Given the description of an element on the screen output the (x, y) to click on. 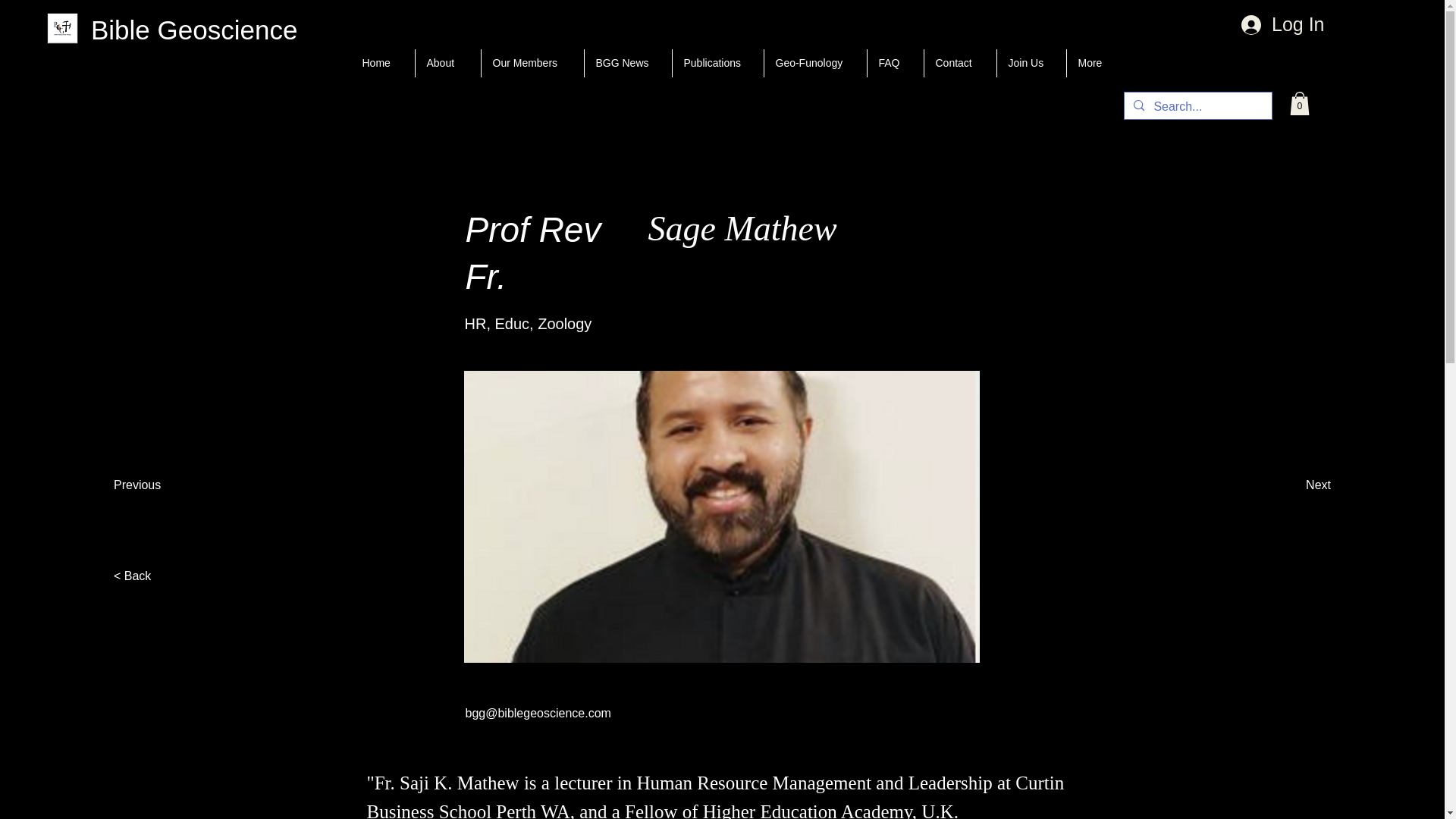
Previous (139, 485)
BGG News (627, 62)
Contact (959, 62)
Our Members (531, 62)
FAQ (895, 62)
About (447, 62)
Home (381, 62)
Publications (716, 62)
Geo-Funology (815, 62)
Log In (1269, 24)
